Given the description of an element on the screen output the (x, y) to click on. 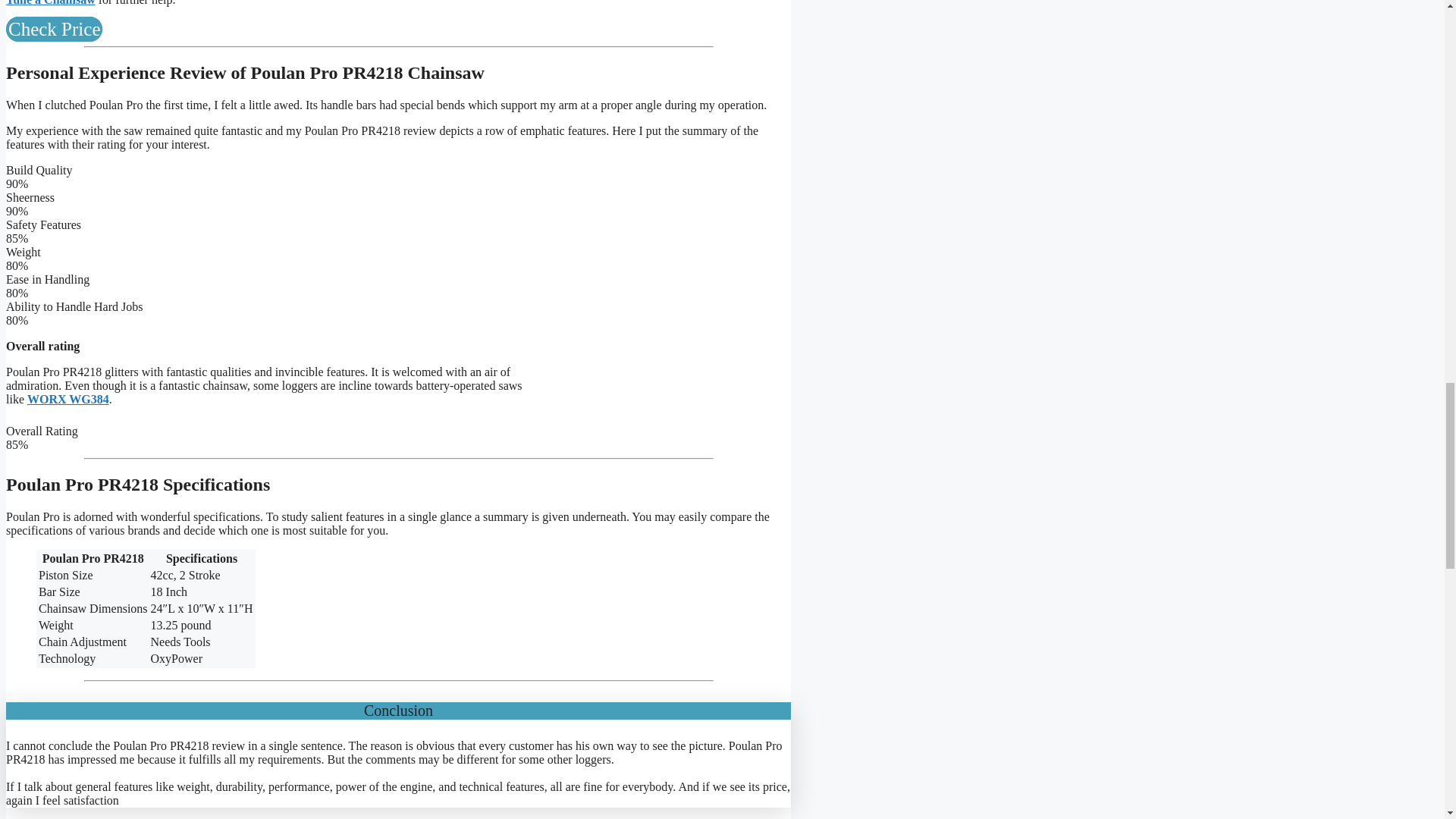
WORX WG384 (68, 399)
Check Price (53, 28)
